Given the description of an element on the screen output the (x, y) to click on. 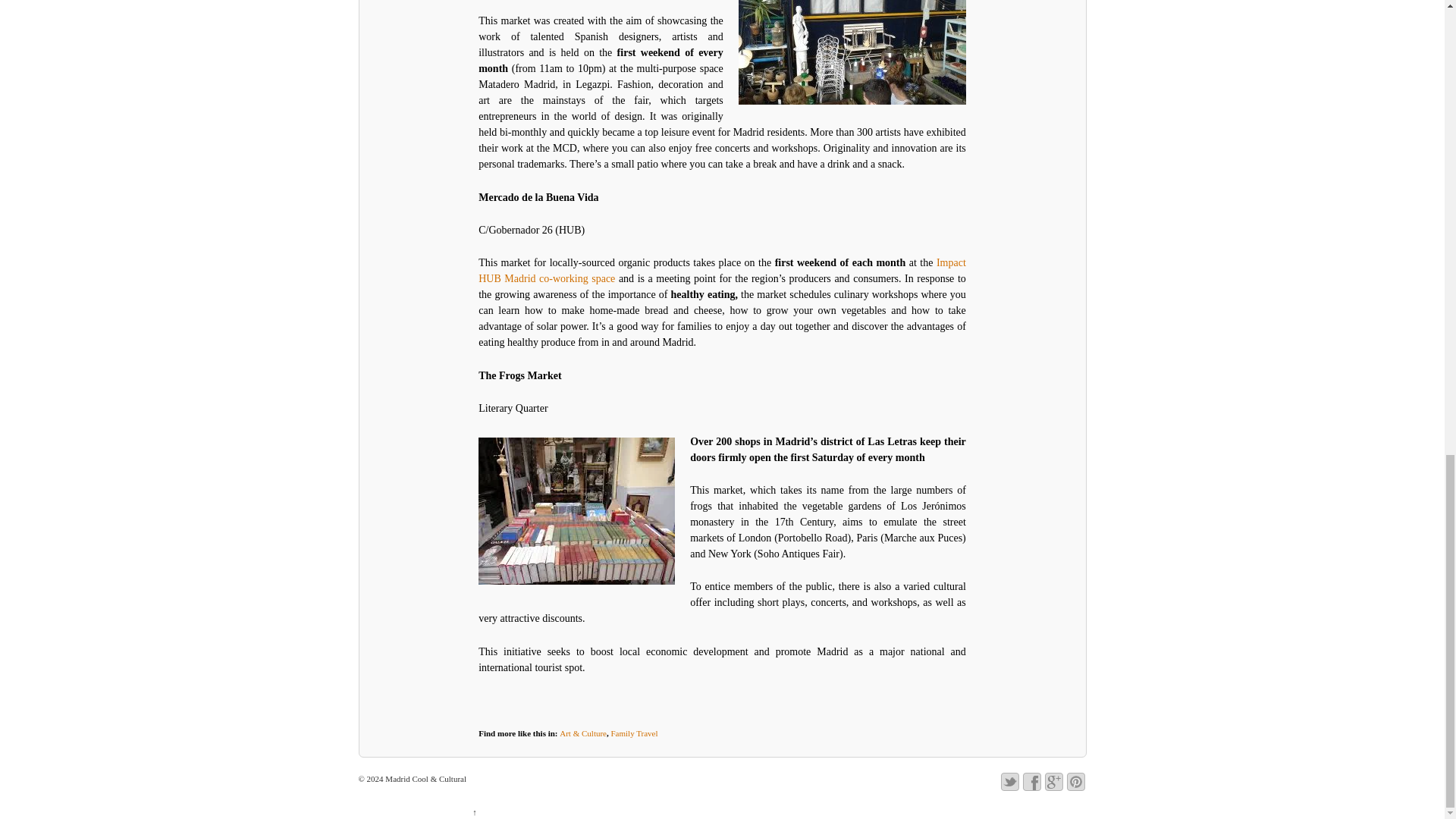
Impact HUB Madrid co-working space (722, 270)
Family Travel (634, 732)
scroll to top (474, 811)
